Given the description of an element on the screen output the (x, y) to click on. 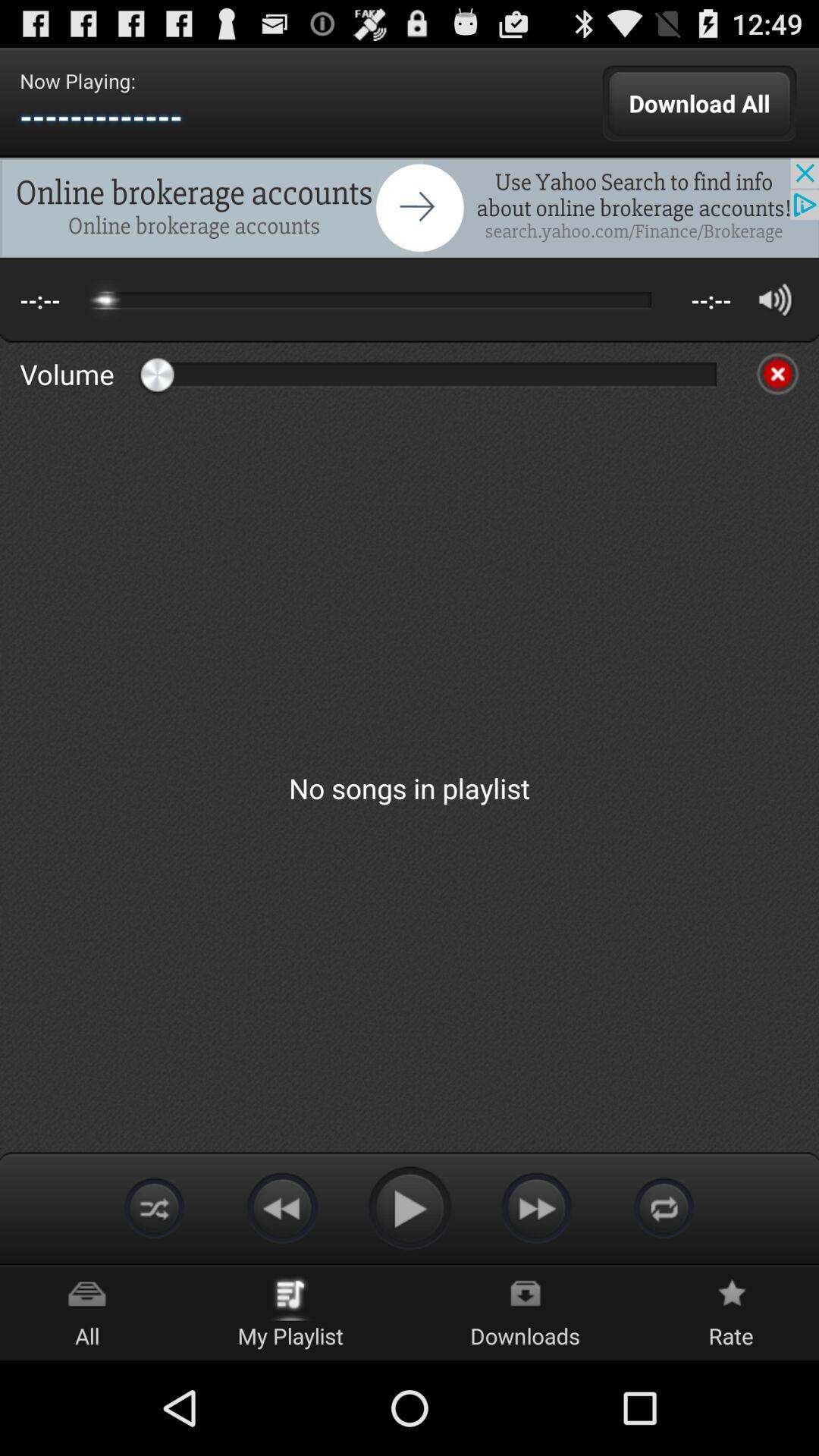
go to next song (536, 1207)
